Given the description of an element on the screen output the (x, y) to click on. 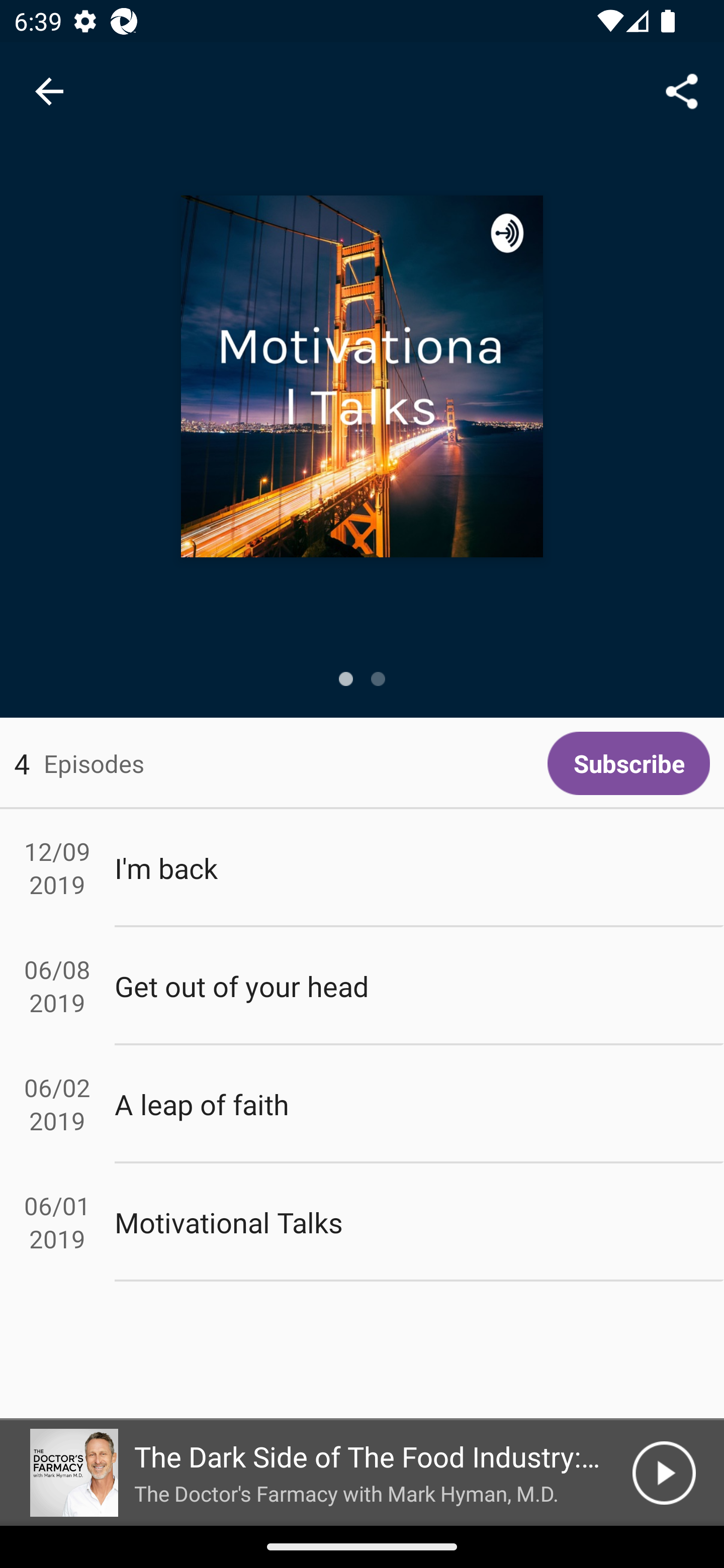
Navigate up (49, 91)
Share... (681, 90)
Subscribe (628, 763)
12/09 2019 I'm back (362, 867)
06/08 2019 Get out of your head (362, 985)
06/02 2019 A leap of faith (362, 1104)
06/01 2019 Motivational Talks (362, 1222)
Play (663, 1472)
